Given the description of an element on the screen output the (x, y) to click on. 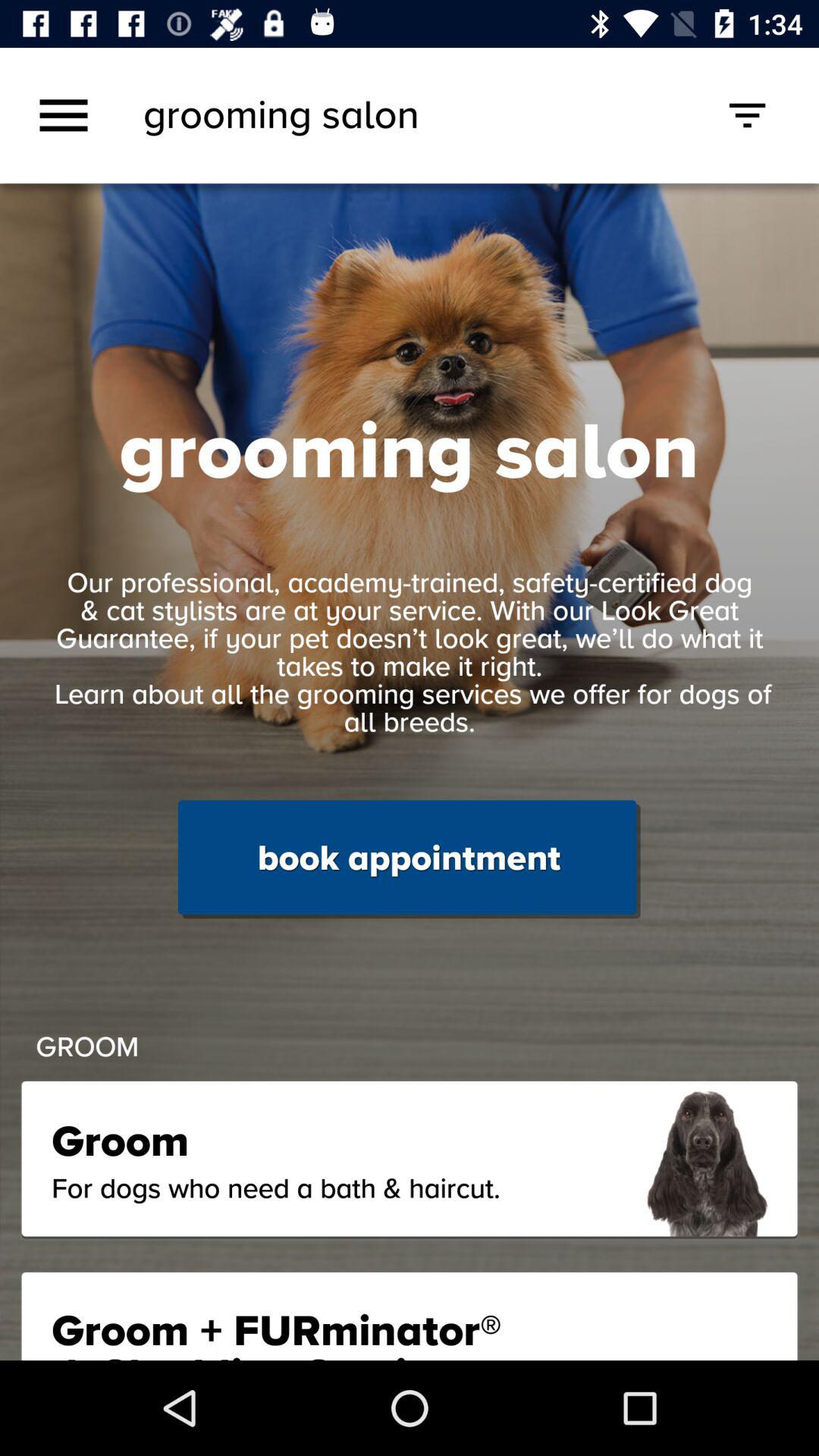
open the item to the left of grooming salon icon (63, 115)
